Given the description of an element on the screen output the (x, y) to click on. 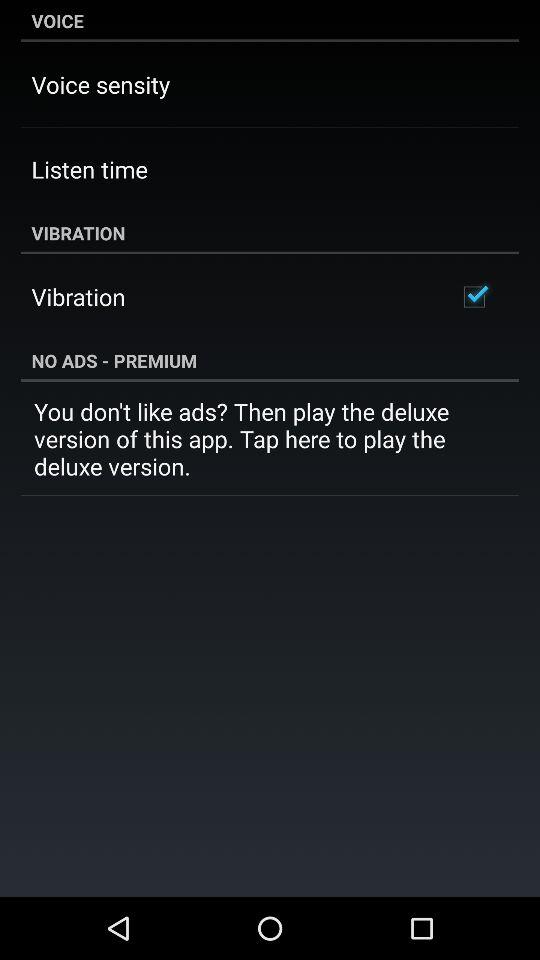
choose listen time app (89, 169)
